Given the description of an element on the screen output the (x, y) to click on. 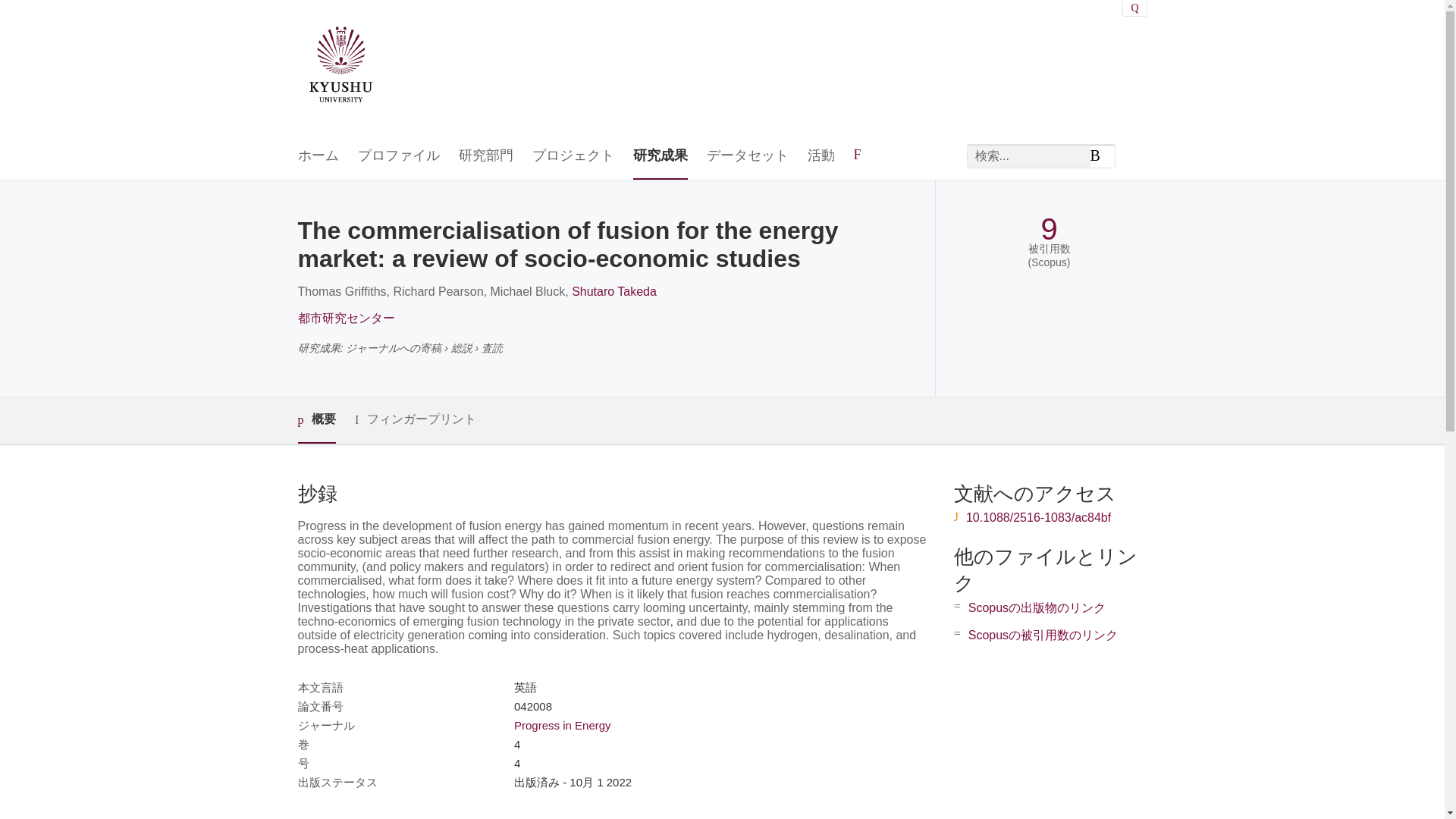
Progress in Energy (562, 725)
Shutaro Takeda (614, 291)
